Given the description of an element on the screen output the (x, y) to click on. 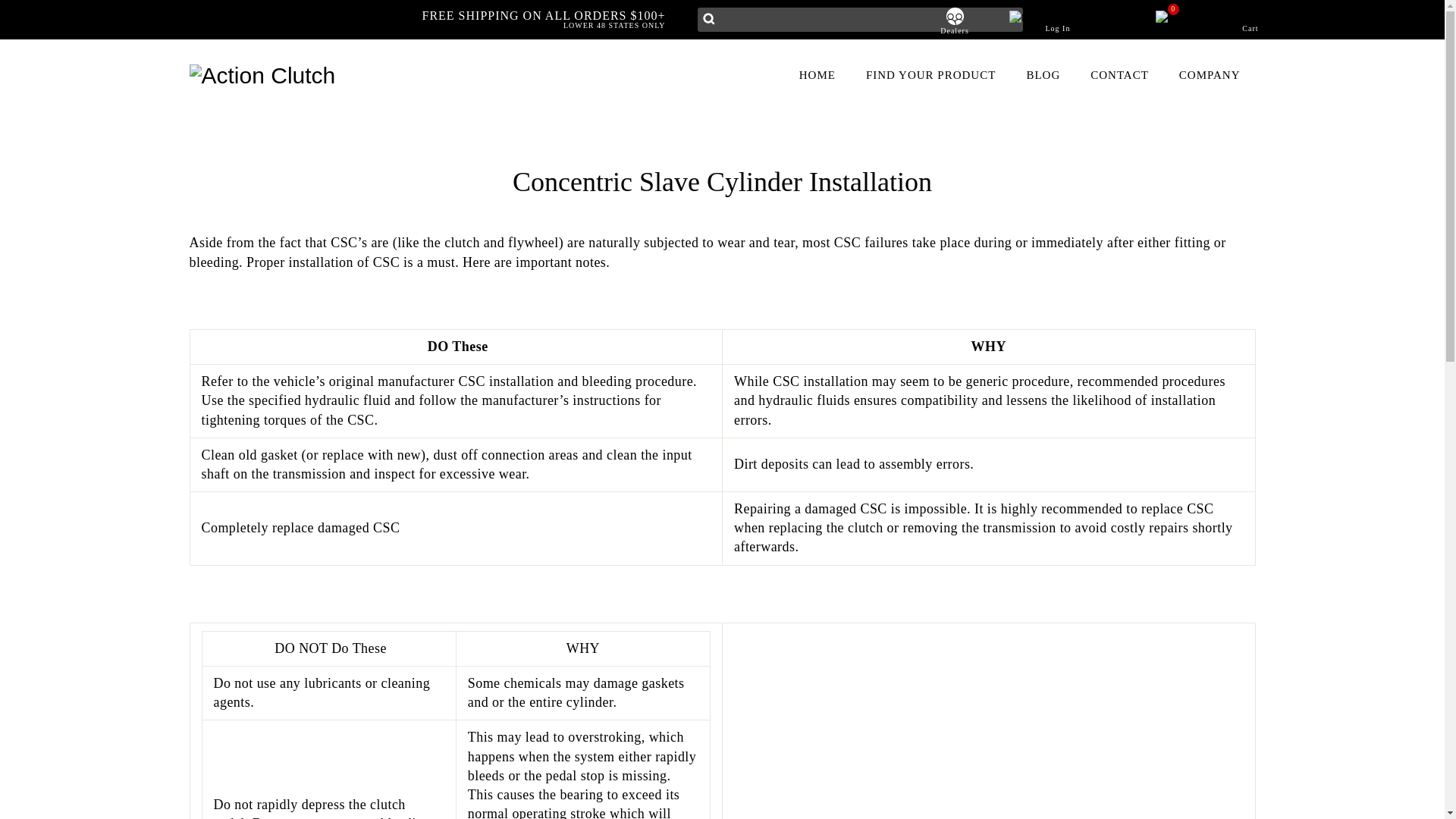
Log In (1058, 22)
FIND YOUR PRODUCT (1193, 22)
Dealers (930, 75)
HOME (955, 21)
Skip to content (817, 75)
